Given the description of an element on the screen output the (x, y) to click on. 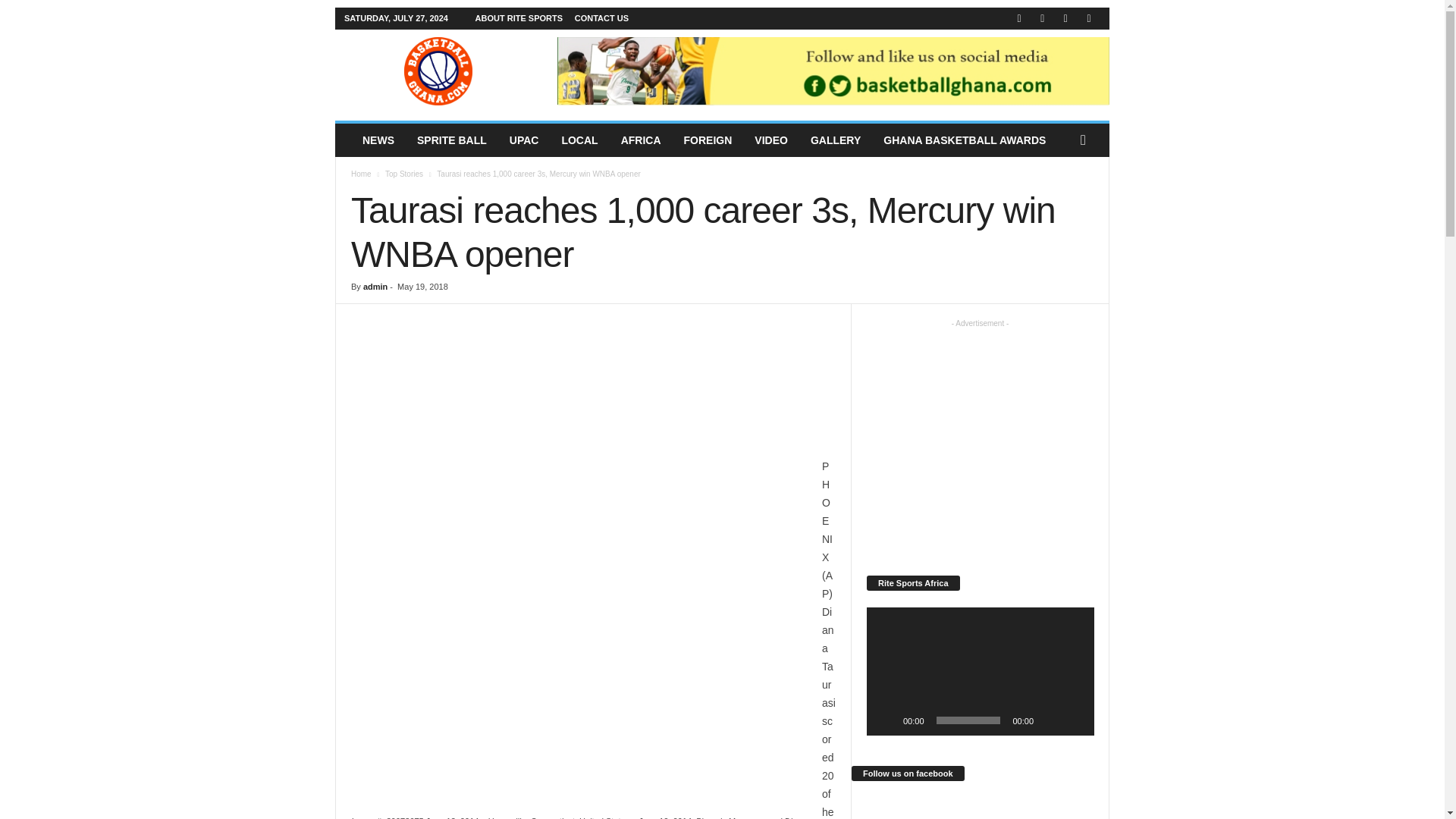
Youtube (1088, 18)
CONTACT US (601, 17)
View all posts in Top Stories (404, 173)
Basket Ball Ghana (437, 70)
FOREIGN (708, 140)
SPRITE BALL (451, 140)
Instagram (1042, 18)
Twitter (1065, 18)
UPAC (523, 140)
LOCAL (579, 140)
VIDEO (770, 140)
Facebook (1018, 18)
ABOUT RITE SPORTS (519, 17)
NEWS (378, 140)
AFRICA (641, 140)
